Given the description of an element on the screen output the (x, y) to click on. 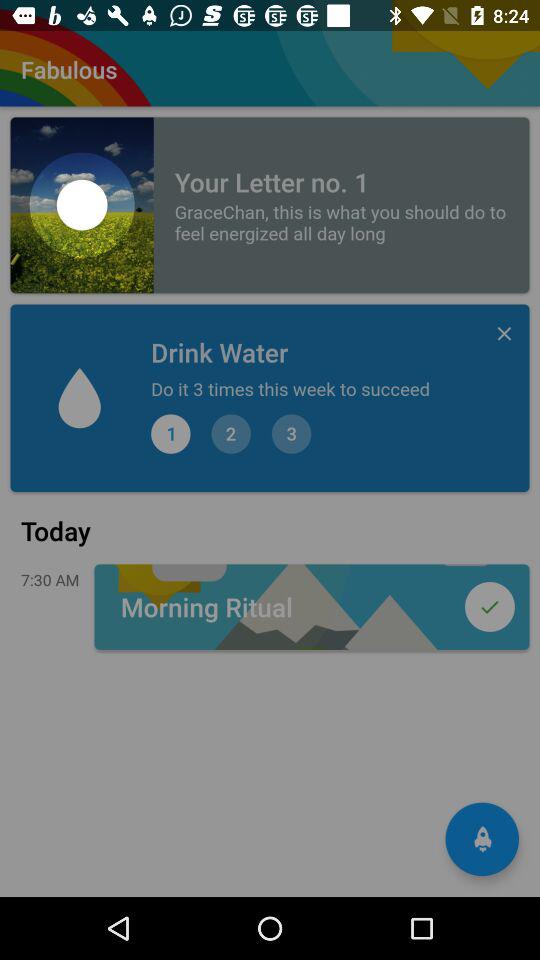
click on the icon at the bottom right corner of the page (482, 839)
